Given the description of an element on the screen output the (x, y) to click on. 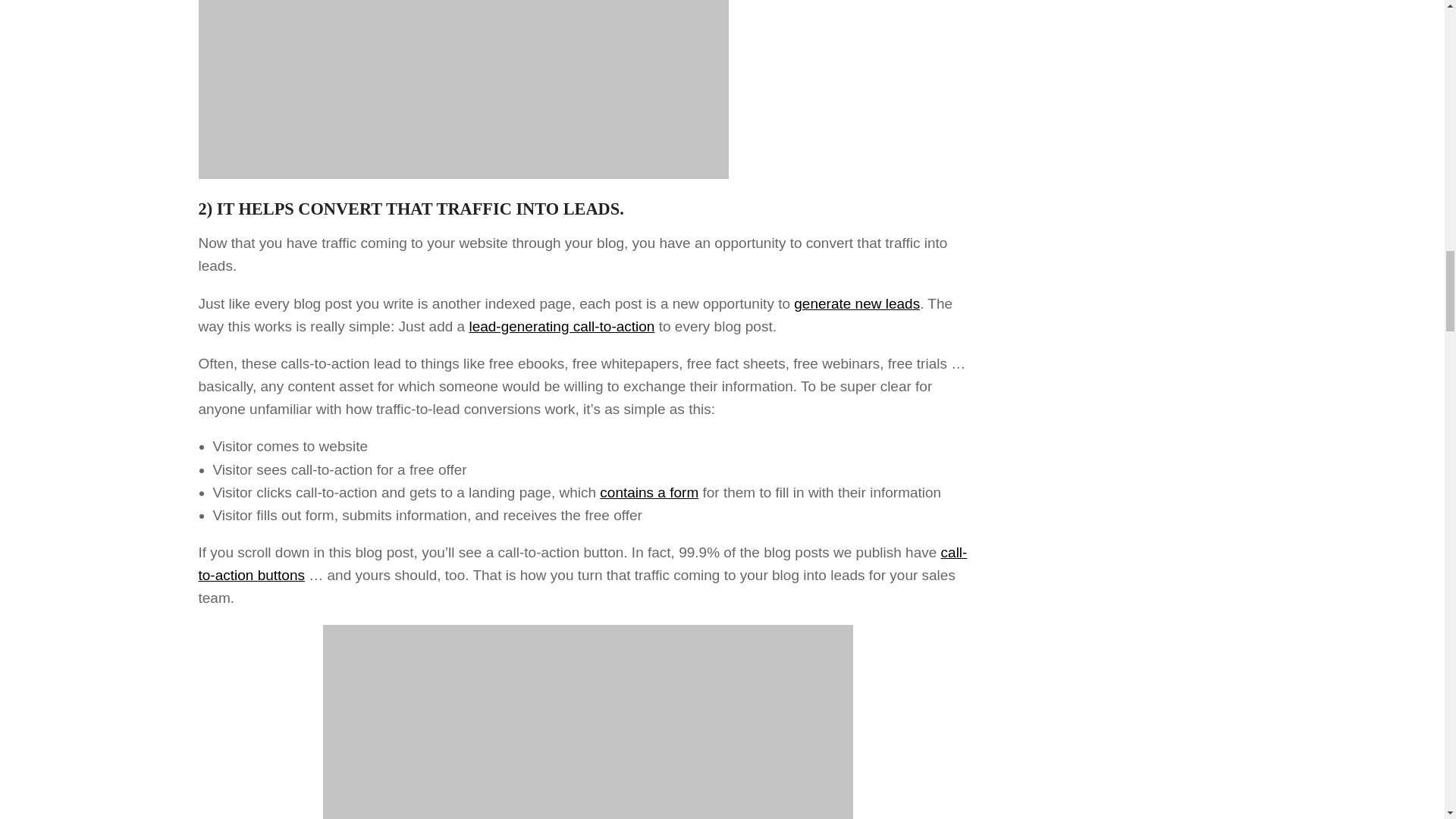
blogging-inbound-image (588, 721)
blogging-inbound (463, 89)
